Given the description of an element on the screen output the (x, y) to click on. 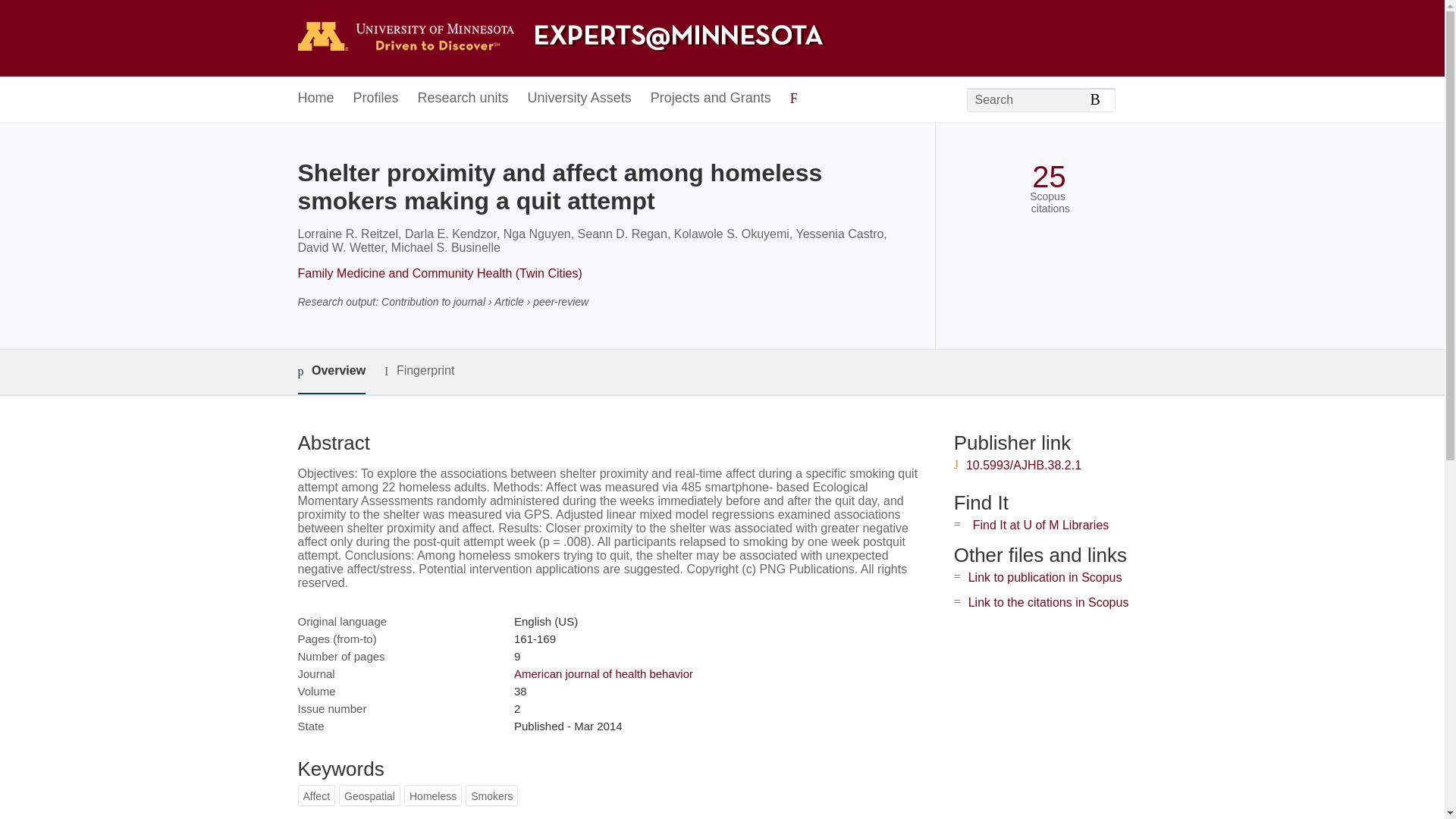
Research units (462, 98)
Link to publication in Scopus (1045, 576)
Overview (331, 371)
Link to the citations in Scopus (1048, 602)
Fingerprint (419, 371)
Find It at U of M Libraries (1040, 524)
Profiles (375, 98)
American journal of health behavior (603, 673)
Projects and Grants (710, 98)
University Assets (579, 98)
25 (1048, 176)
